Given the description of an element on the screen output the (x, y) to click on. 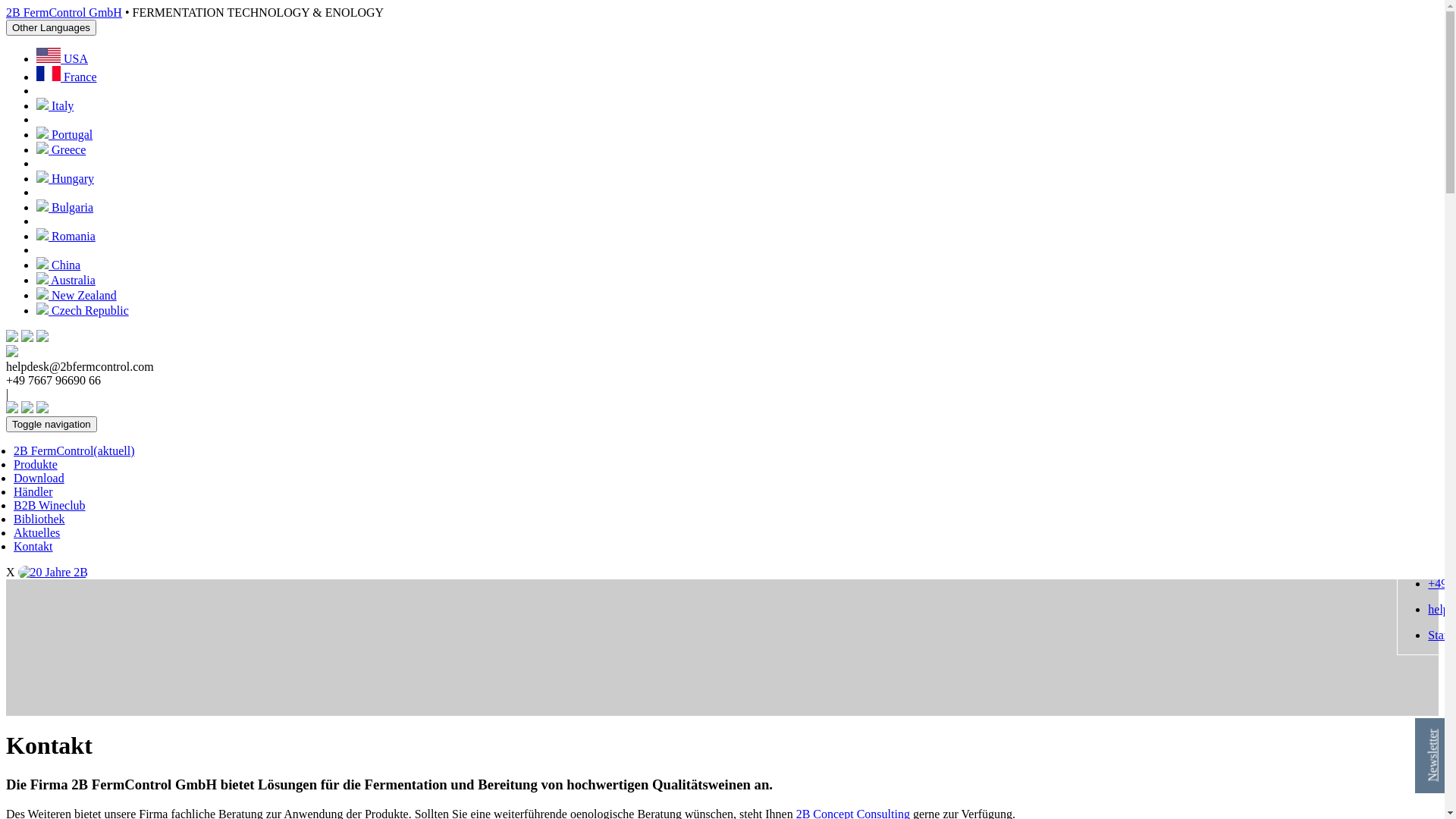
Download Element type: text (38, 477)
Bibliothek Element type: text (39, 518)
Toggle navigation Element type: text (51, 424)
Hungary Element type: text (65, 178)
helpdesk@2bfermcontrol.com Element type: text (722, 366)
New Zealand Element type: text (76, 294)
Czech Republic Element type: text (82, 310)
Other Languages Element type: text (51, 27)
+49 7667 96690 66 Element type: text (722, 380)
Portugal Element type: text (64, 134)
China Element type: text (58, 264)
Produkte Element type: text (35, 464)
2B FermControl GmbH Element type: text (64, 12)
Bulgaria Element type: text (64, 206)
Romania Element type: text (65, 235)
Greece Element type: text (60, 149)
USA Element type: text (61, 58)
Italy Element type: text (54, 105)
Aktuelles Element type: text (36, 532)
Australia Element type: text (65, 279)
France Element type: text (66, 76)
Kontakt Element type: text (33, 545)
B2B Wineclub Element type: text (49, 504)
2B FermControl(aktuell) Element type: text (73, 450)
